Given the description of an element on the screen output the (x, y) to click on. 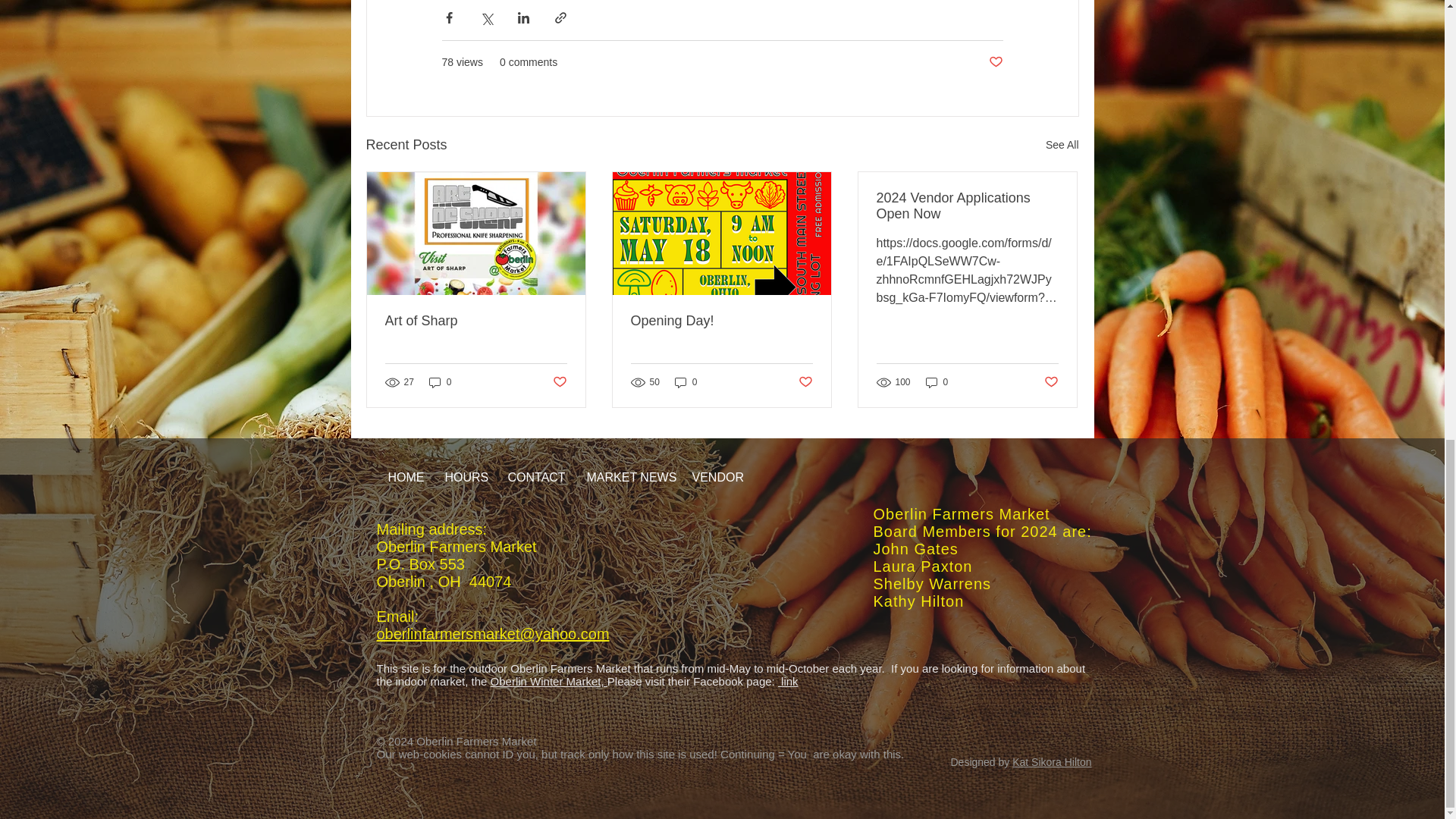
MARKET NEWS (627, 477)
Post not marked as liked (558, 382)
HOME (403, 477)
CONTACT (535, 477)
0 (685, 382)
Art of Sharp (476, 320)
Oberlin Winter Market,  (548, 680)
Post not marked as liked (1050, 382)
0 (440, 382)
Opening Day! (721, 320)
HOURS (464, 477)
0 (937, 382)
Post not marked as liked (995, 62)
Post not marked as liked (804, 382)
See All (1061, 145)
